Given the description of an element on the screen output the (x, y) to click on. 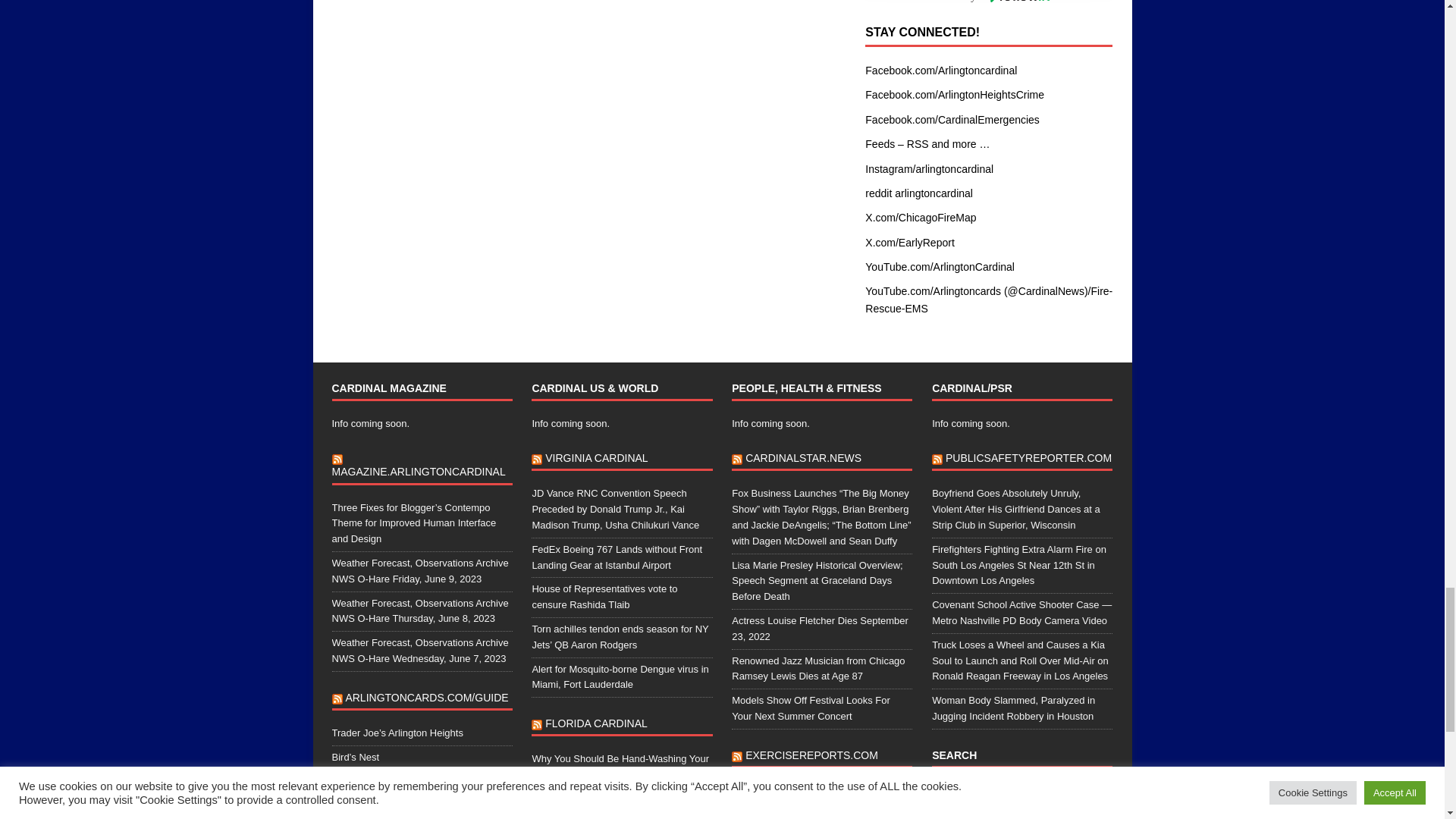
Not much activity here on reddit, yet. (918, 193)
